Given the description of an element on the screen output the (x, y) to click on. 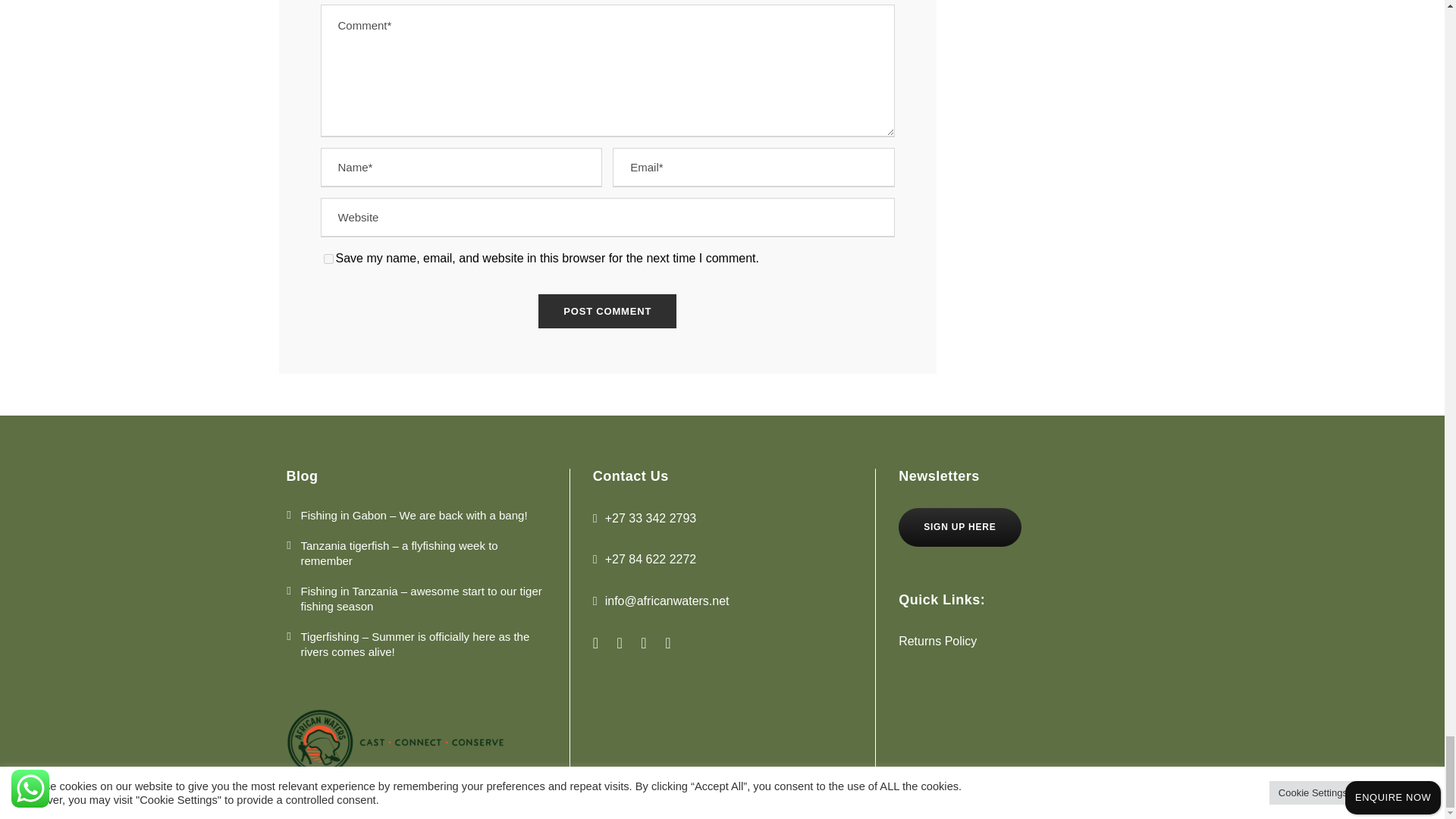
yes (328, 258)
Post Comment (607, 311)
Post Comment (607, 311)
